Given the description of an element on the screen output the (x, y) to click on. 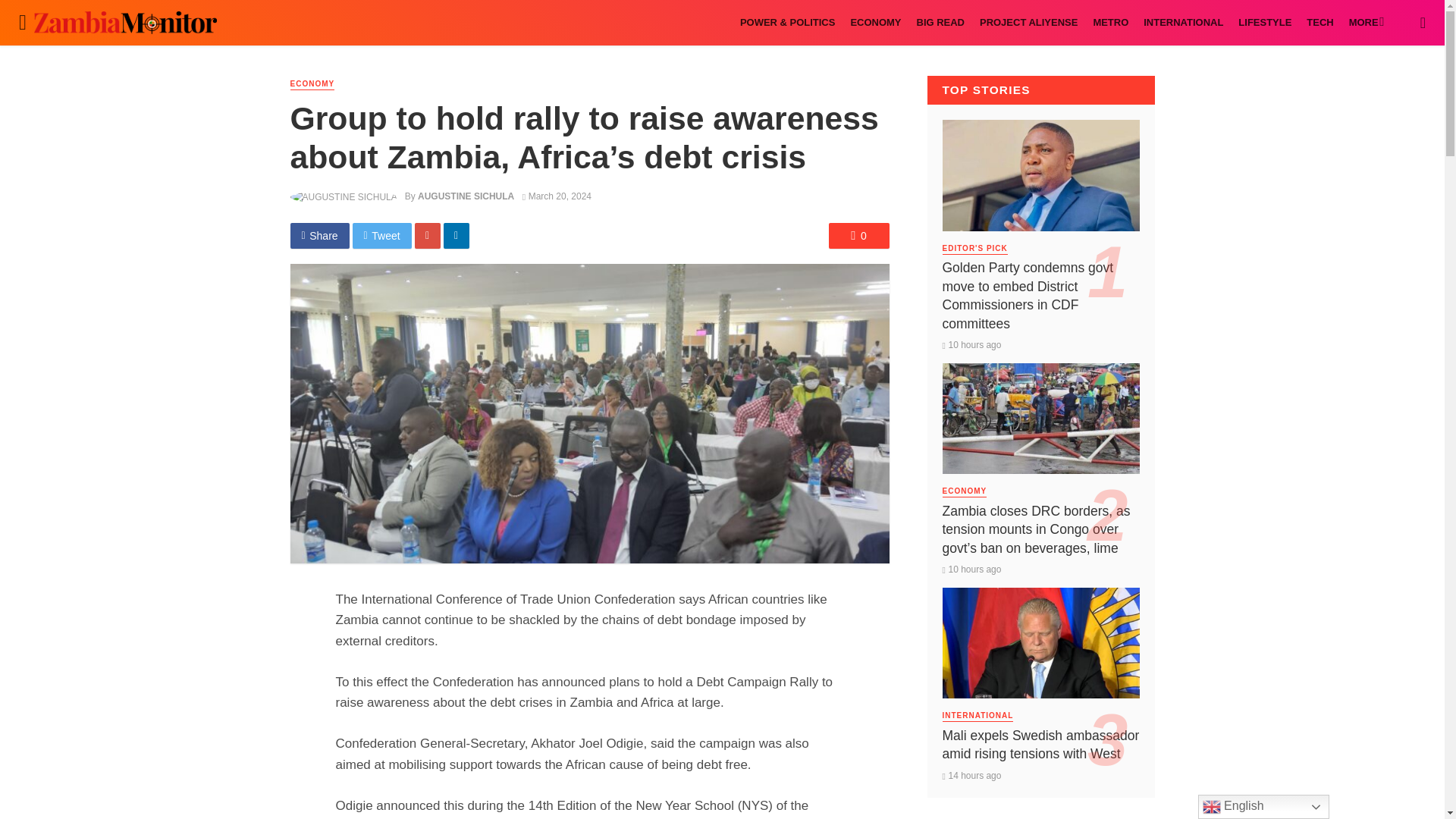
BIG READ (939, 22)
METRO (1109, 22)
ECONOMY (875, 22)
PROJECT ALIYENSE (1028, 22)
LIFESTYLE (1264, 22)
INTERNATIONAL (1182, 22)
TECH (1319, 22)
